Given the description of an element on the screen output the (x, y) to click on. 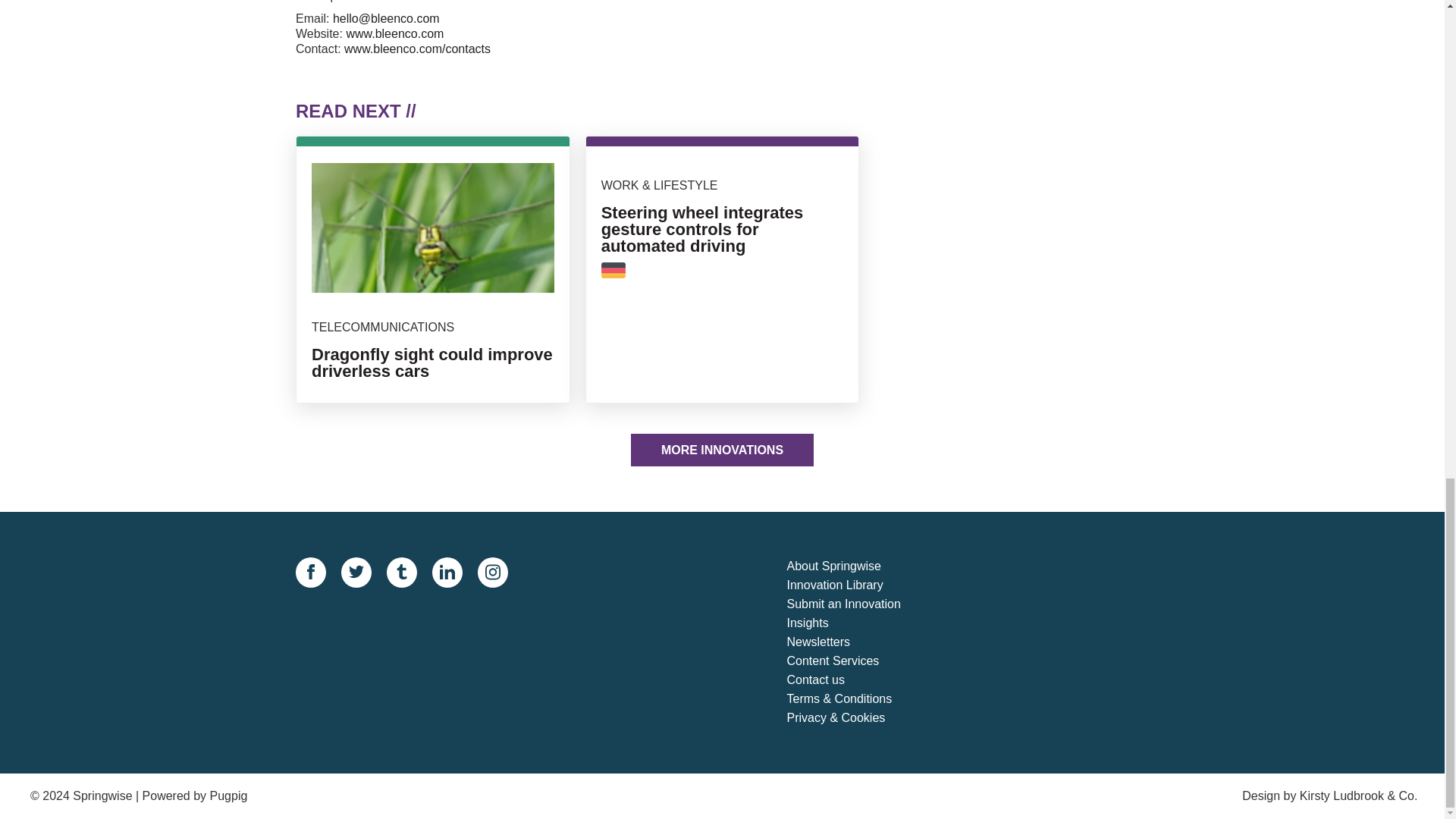
Contact us (856, 680)
Content Services (856, 660)
About Springwise (856, 566)
MORE INNOVATIONS (721, 450)
www.bleenco.com (395, 33)
Submit an Innovation (856, 604)
Newsletters (856, 642)
Innovation Library (856, 585)
Insights (856, 623)
